Given the description of an element on the screen output the (x, y) to click on. 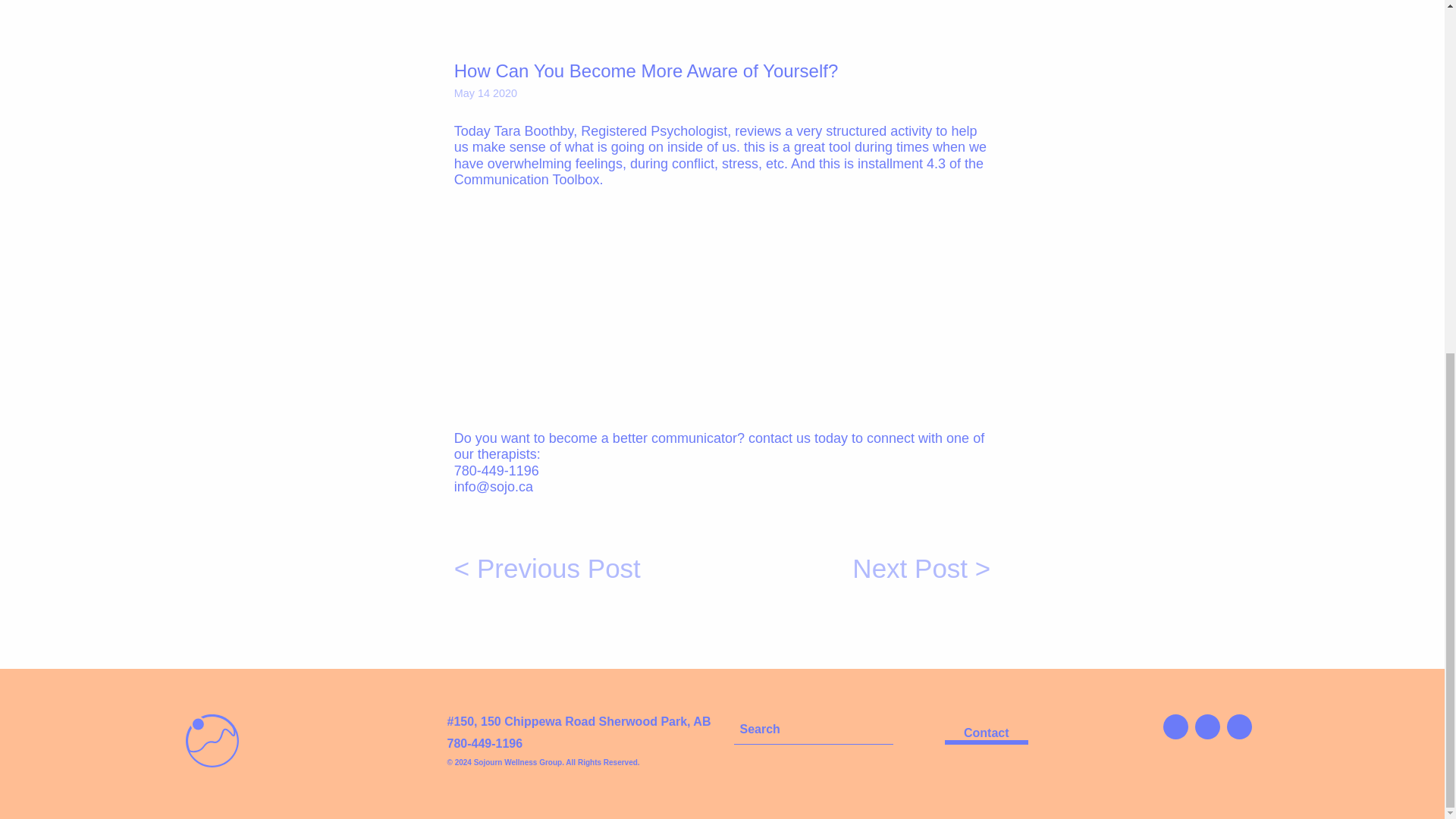
Contact (985, 734)
How Can You Become More Aware of Yourself? (643, 307)
780-449-1196 (484, 743)
